Given the description of an element on the screen output the (x, y) to click on. 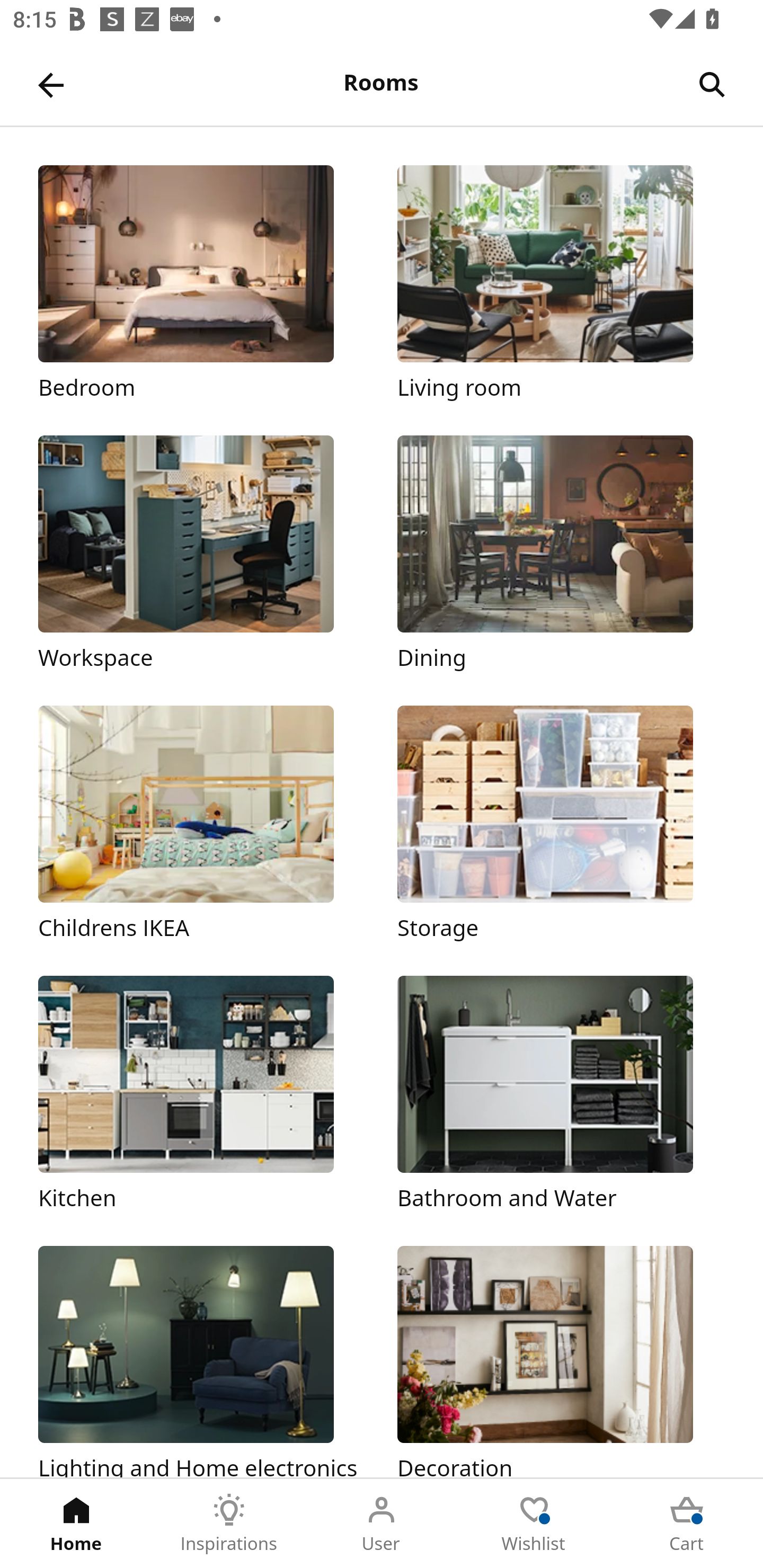
Bedroom (201, 283)
Living room (560, 283)
Workspace (201, 554)
Dining (560, 554)
Childrens IKEA (201, 824)
Storage (560, 824)
Kitchen (201, 1094)
Bathroom and Water (560, 1094)
Lighting and Home electronics (201, 1361)
Decoration (560, 1361)
Home
Tab 1 of 5 (76, 1522)
Inspirations
Tab 2 of 5 (228, 1522)
User
Tab 3 of 5 (381, 1522)
Wishlist
Tab 4 of 5 (533, 1522)
Cart
Tab 5 of 5 (686, 1522)
